Given the description of an element on the screen output the (x, y) to click on. 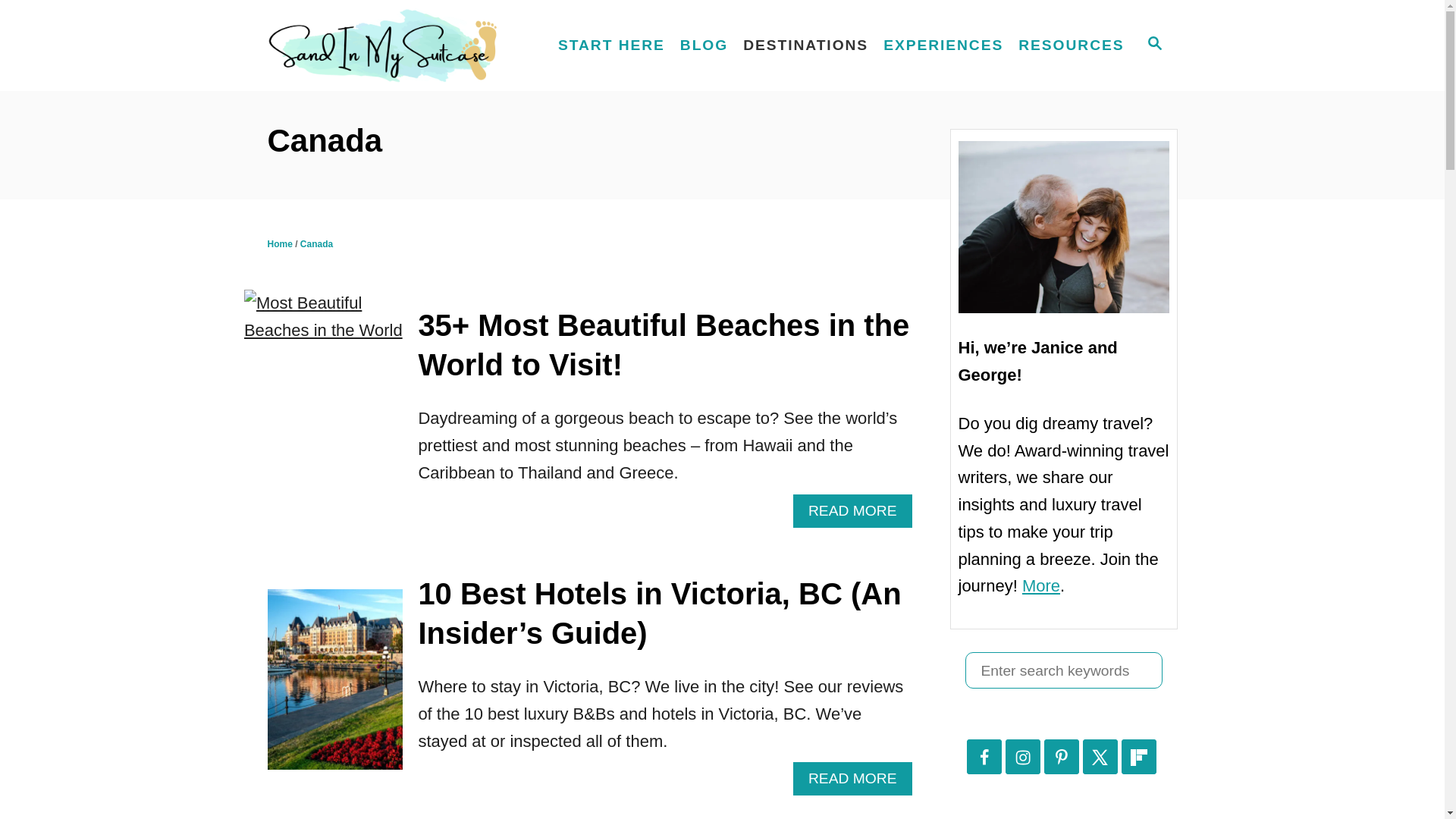
SEARCH (1153, 45)
Sand In My Suitcase (394, 45)
Search for: (1062, 669)
START HERE (611, 45)
Follow on Facebook (983, 756)
DESTINATIONS (805, 45)
BLOG (703, 45)
Follow on Instagram (1023, 756)
RESOURCES (1070, 45)
EXPERIENCES (943, 45)
